Given the description of an element on the screen output the (x, y) to click on. 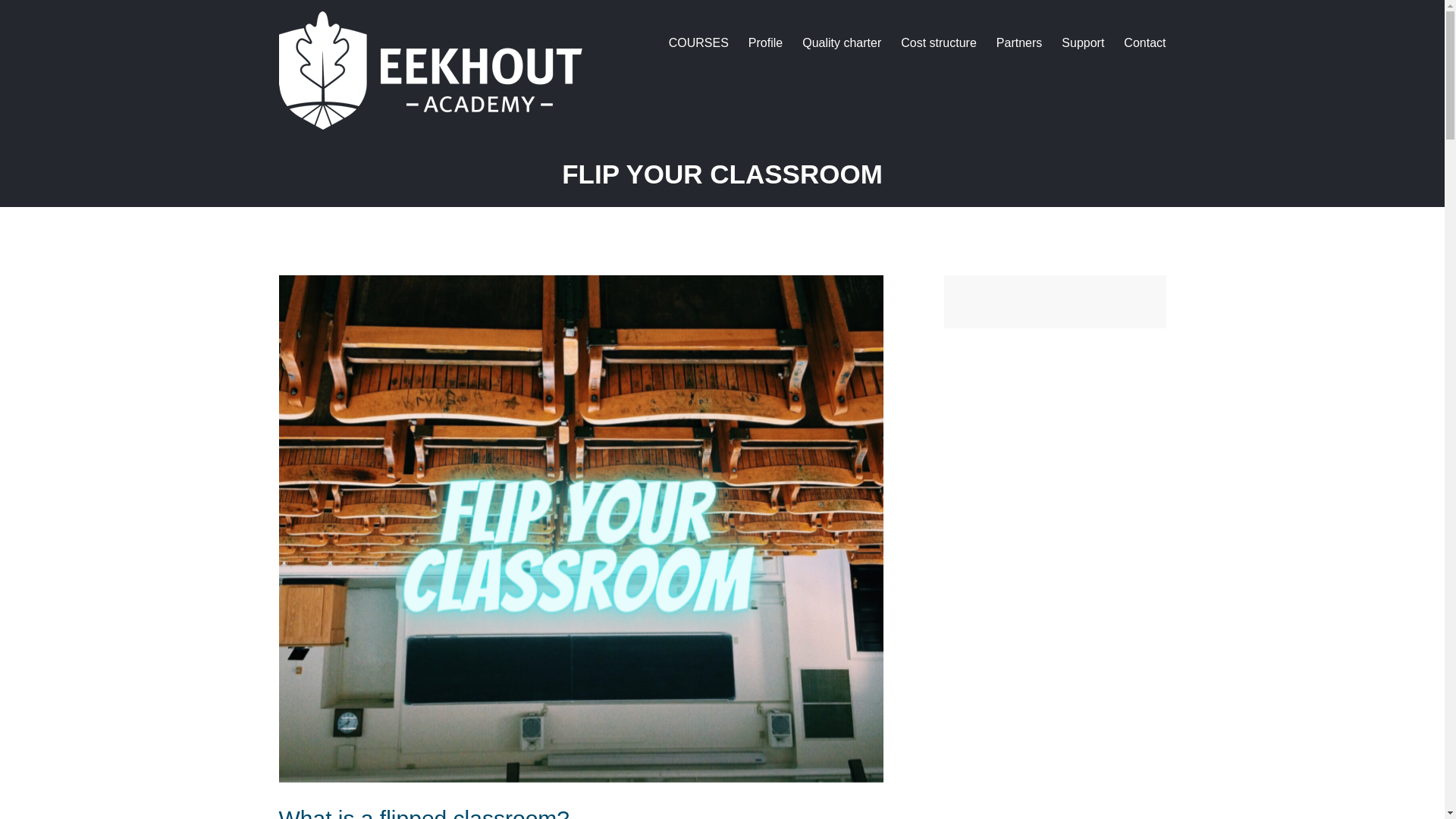
Cost structure (938, 41)
Quality charter (841, 41)
